Given the description of an element on the screen output the (x, y) to click on. 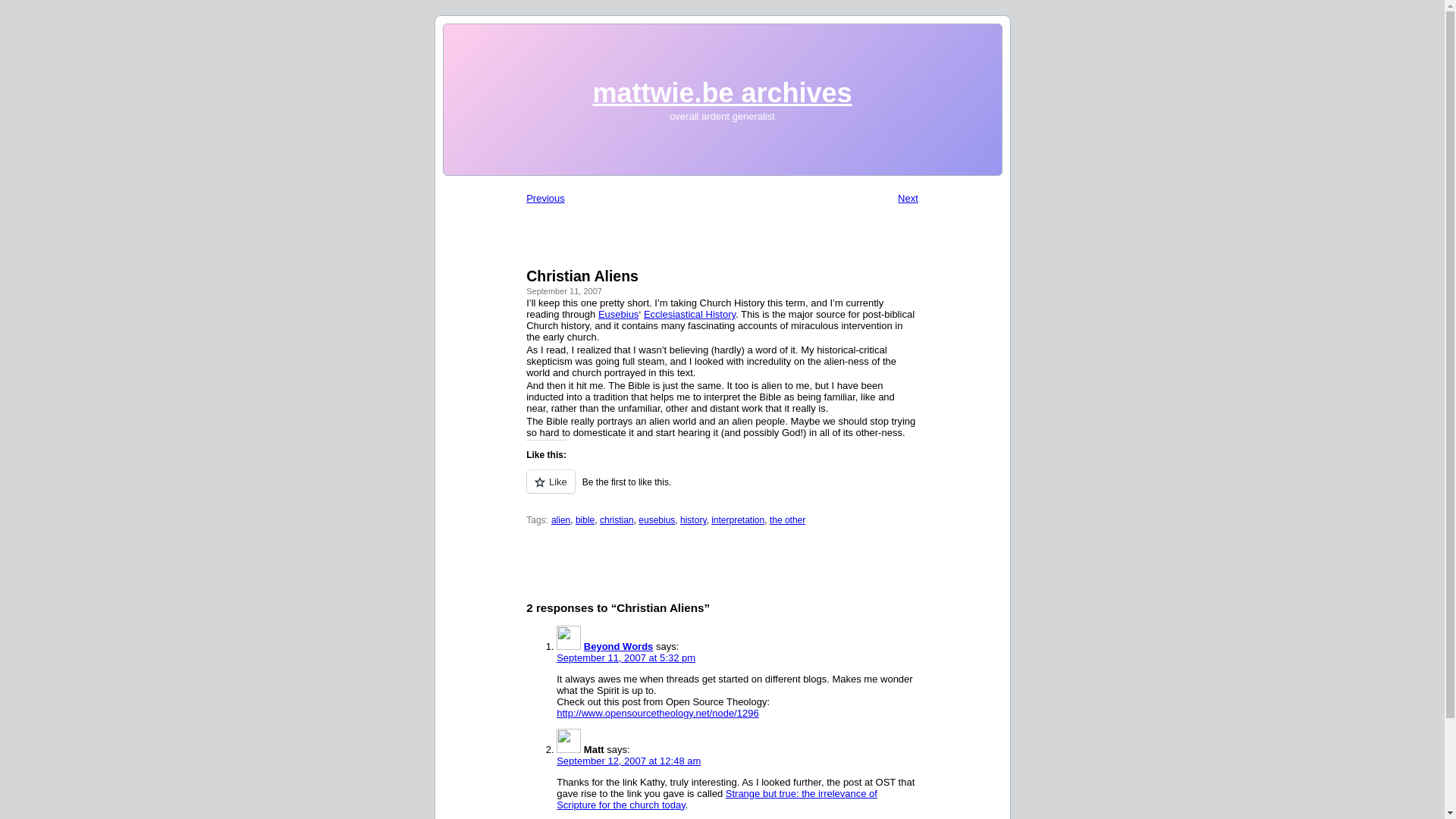
Ecclesiastical History (689, 314)
Previous (544, 197)
mattwie.be archives (721, 92)
September 12, 2007 at 12:48 am (628, 760)
eusebius (657, 520)
Like or Reblog (721, 490)
christian (616, 520)
Eusebius of Caesarea (618, 314)
interpretation (737, 520)
